Given the description of an element on the screen output the (x, y) to click on. 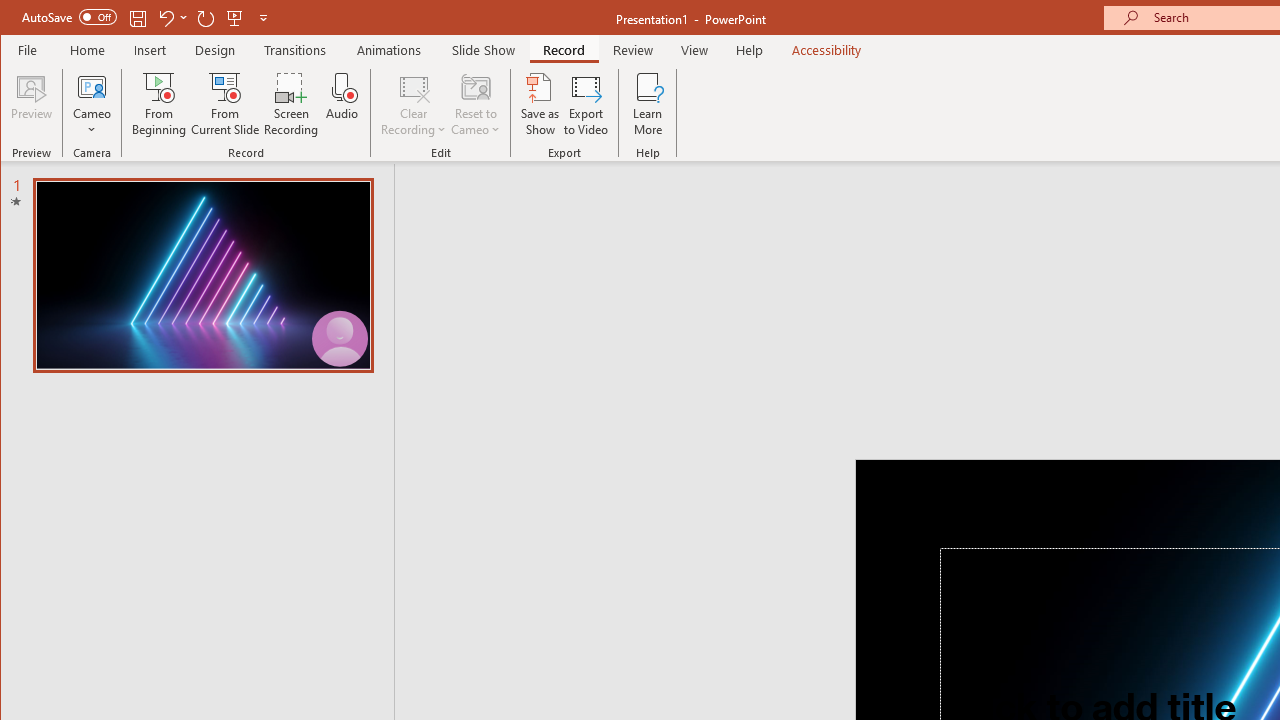
From Beginning... (159, 104)
Save as Show (539, 104)
Learn More (648, 104)
